Given the description of an element on the screen output the (x, y) to click on. 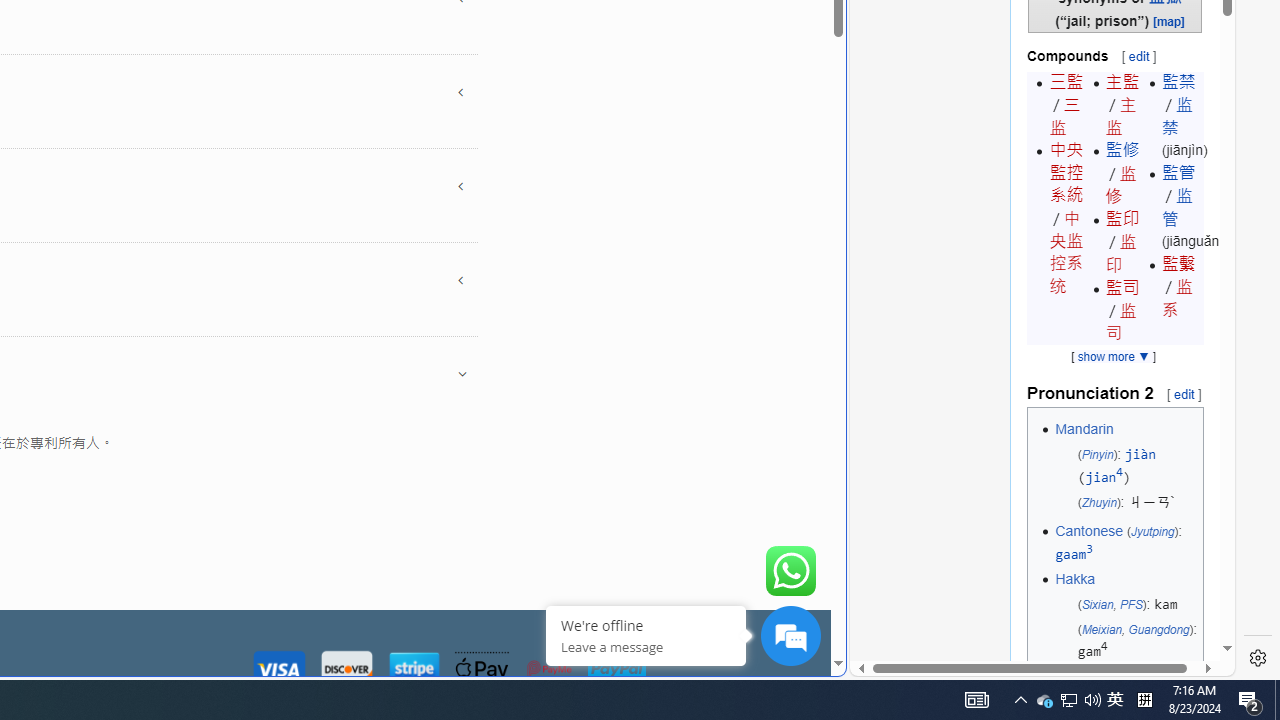
BUC (1149, 682)
Hakka(Sixian, PFS): kam(Meixian, Guangdong): gam4 (1126, 615)
Mandarin (1083, 428)
